Given the description of an element on the screen output the (x, y) to click on. 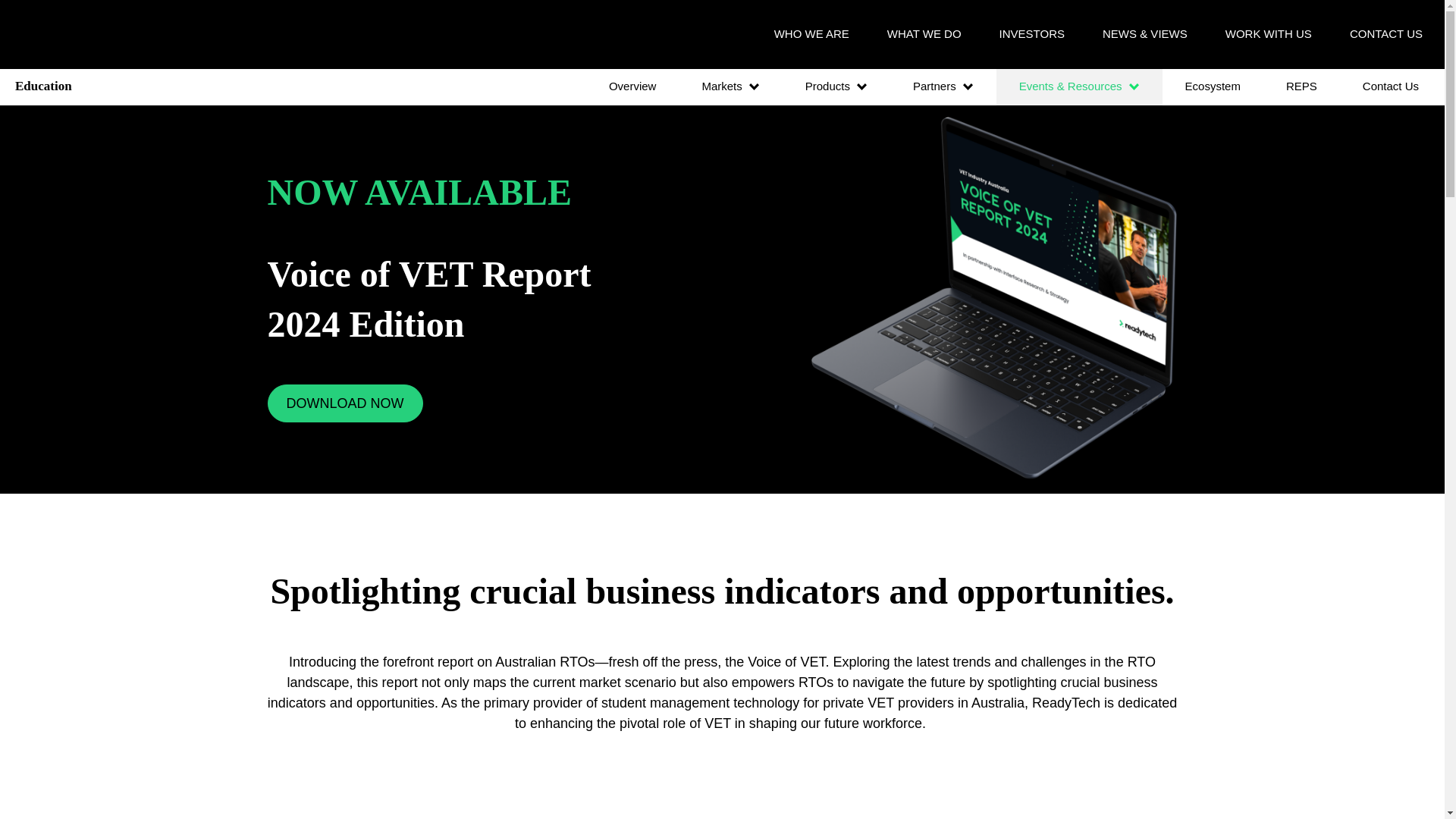
ReadyTech (92, 34)
WHO WE ARE (811, 34)
INVESTORS (1031, 34)
ReadyTech (92, 34)
WHAT WE DO (923, 34)
